Given the description of an element on the screen output the (x, y) to click on. 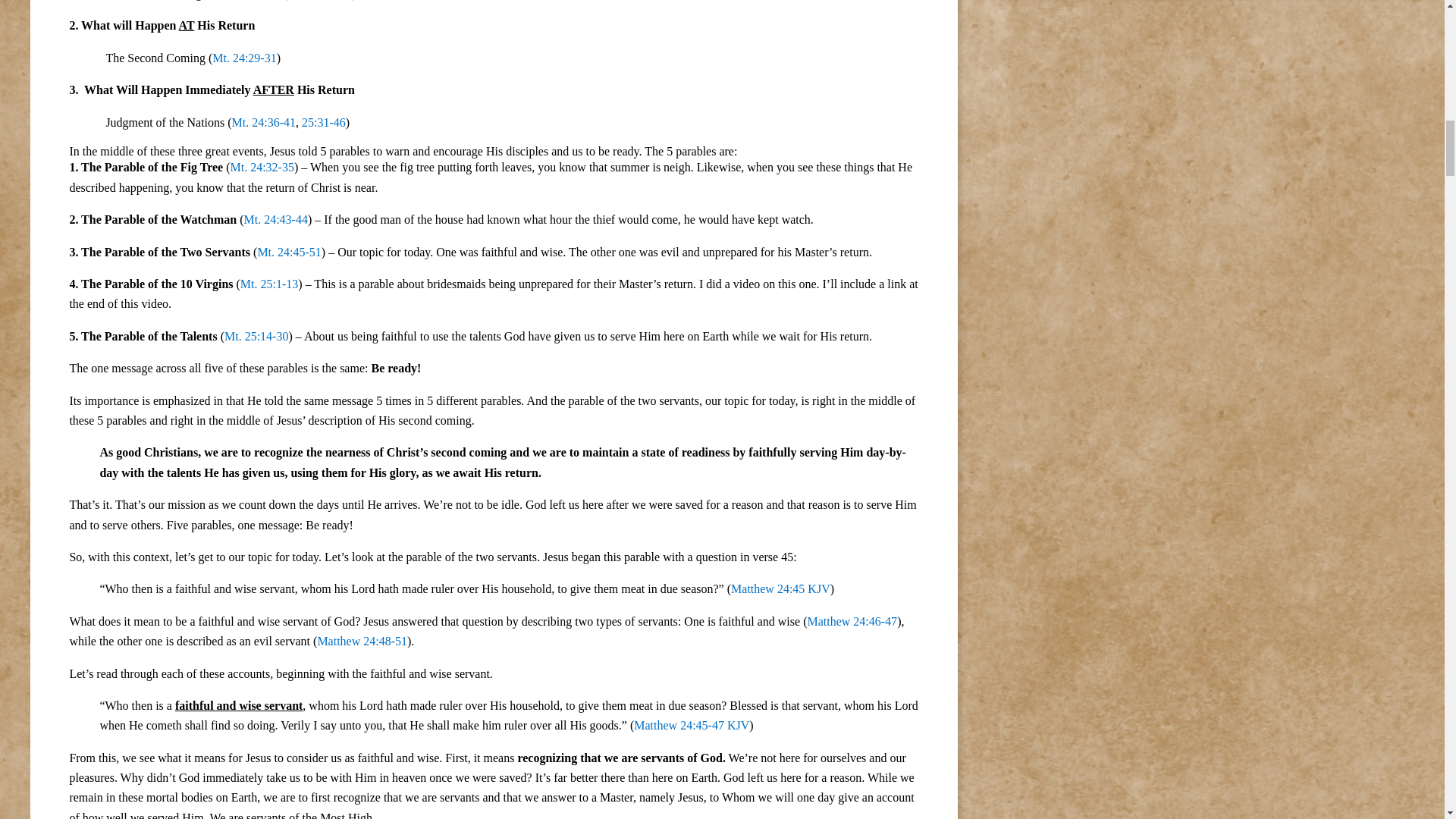
Matthew 24:46-47 (851, 621)
Mt. 24:32-35 (262, 166)
Matthew 24:48-51 (362, 640)
Mt. 24:29-31 (244, 57)
Matthew 24:45-47 KJV (691, 725)
Mt. 24:36-41 (263, 121)
Matthew 24:45 KJV (779, 588)
Mt. 24:43-44 (275, 219)
Mt. 25:14-30 (256, 336)
Mt. 24:45-51 (288, 251)
Mt. 25:1-13 (269, 283)
25:31-46 (323, 121)
